Given the description of an element on the screen output the (x, y) to click on. 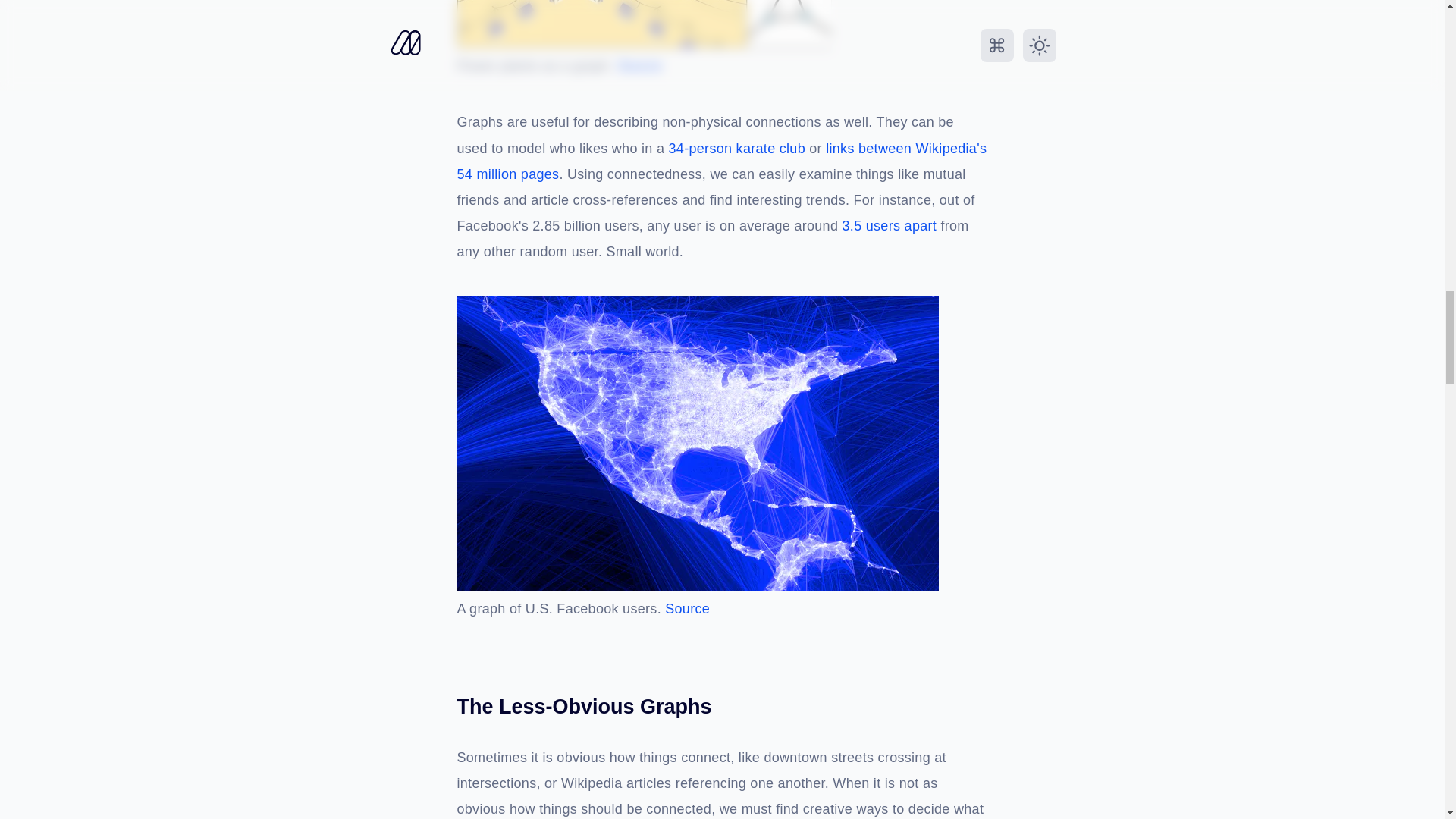
Source (687, 609)
34-person karate club (736, 149)
Source (639, 66)
3.5 users apart (890, 226)
links between Wikipedia's 54 million pages (722, 161)
